Given the description of an element on the screen output the (x, y) to click on. 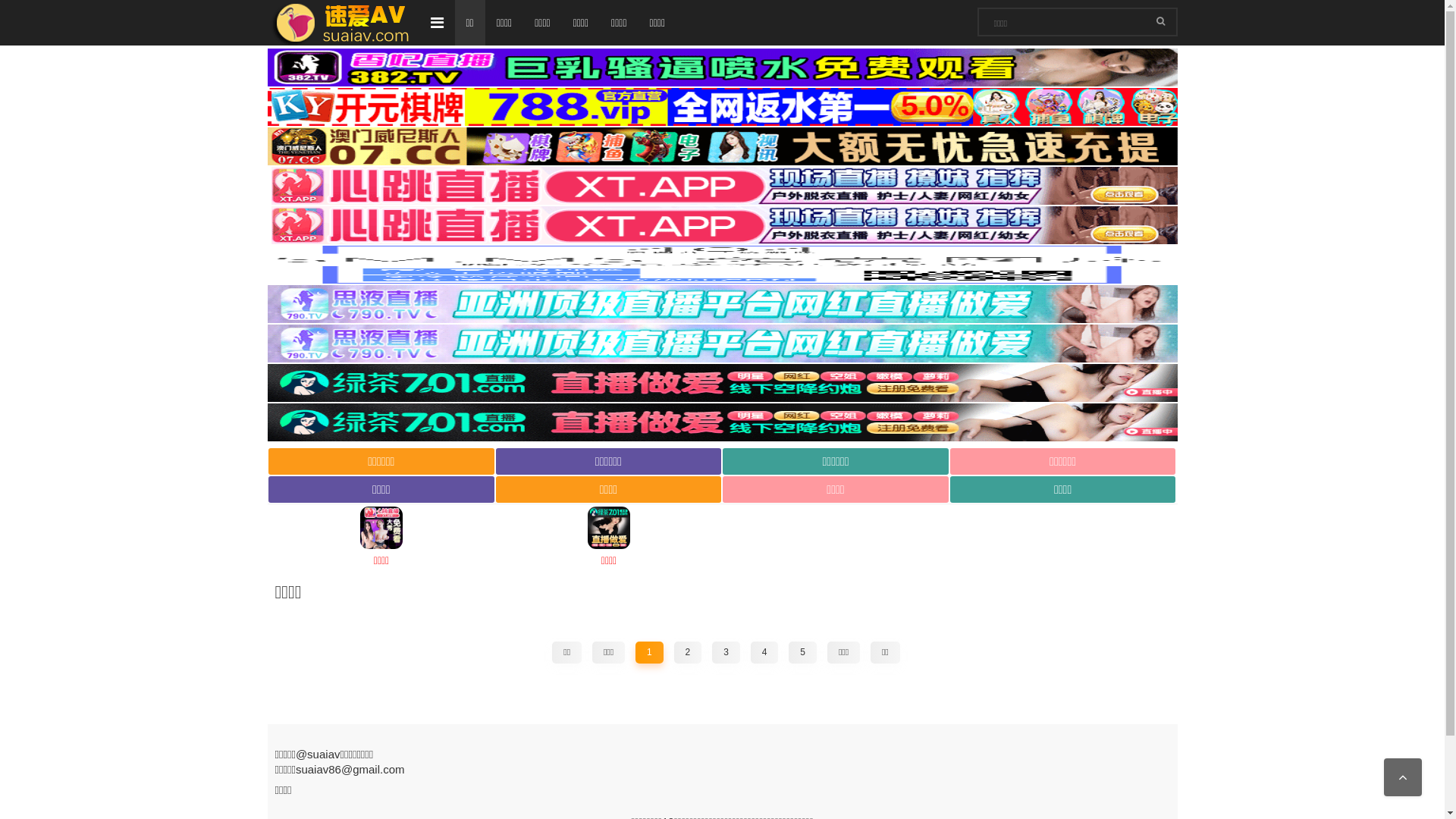
3 Element type: text (726, 652)
1 Element type: text (649, 652)
4 Element type: text (764, 652)
2 Element type: text (688, 652)
5 Element type: text (802, 652)
